Given the description of an element on the screen output the (x, y) to click on. 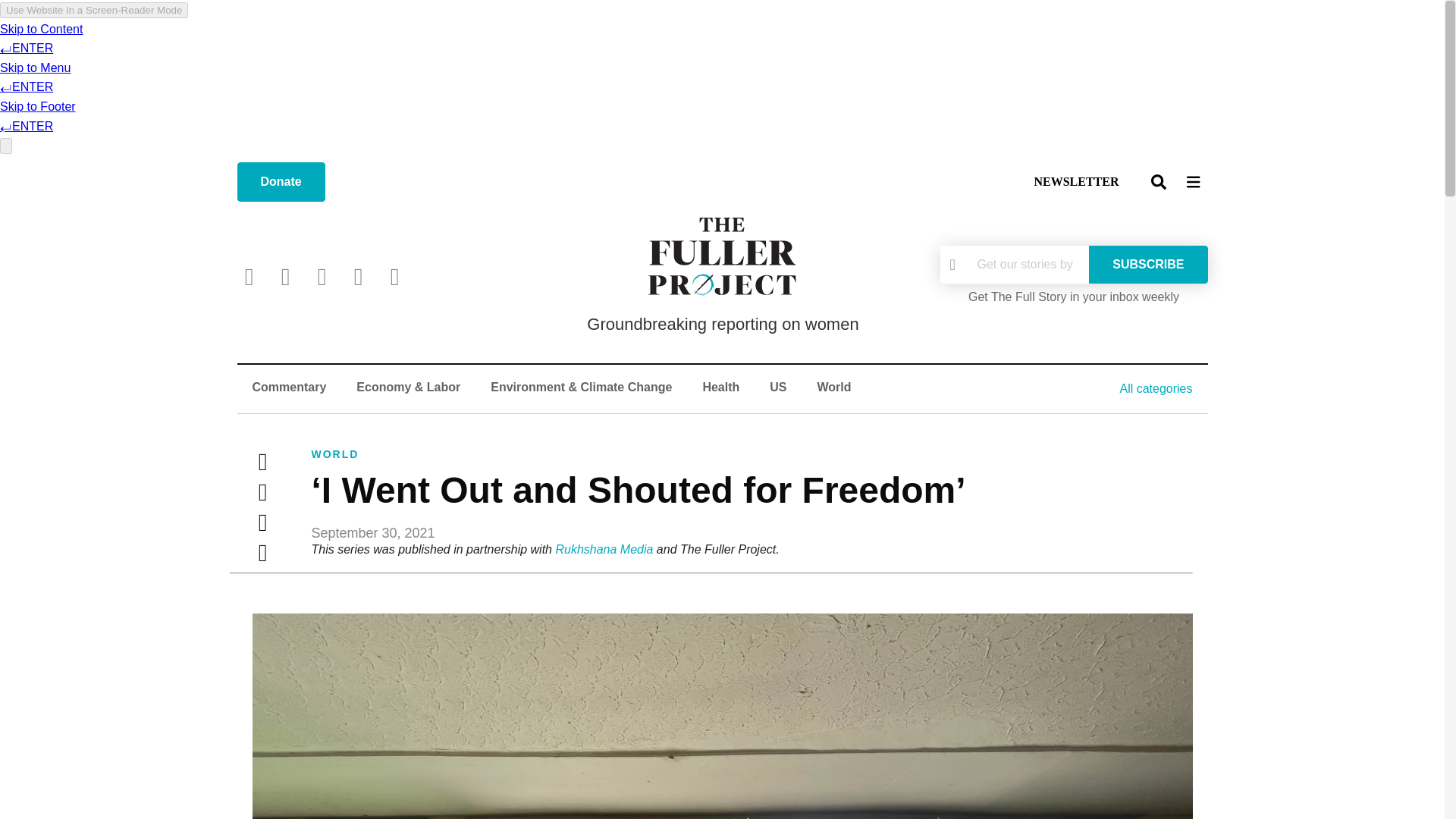
Facebook (262, 491)
Facebook (285, 276)
Donate (279, 181)
Linkedin (262, 552)
Twitter (262, 461)
Instagram (320, 276)
Mastodon (393, 276)
NEWSLETTER (1075, 182)
Linkedin (357, 276)
Email (262, 522)
Menu and search (1176, 180)
Twitter (247, 276)
SUBSCRIBE (1148, 264)
